Given the description of an element on the screen output the (x, y) to click on. 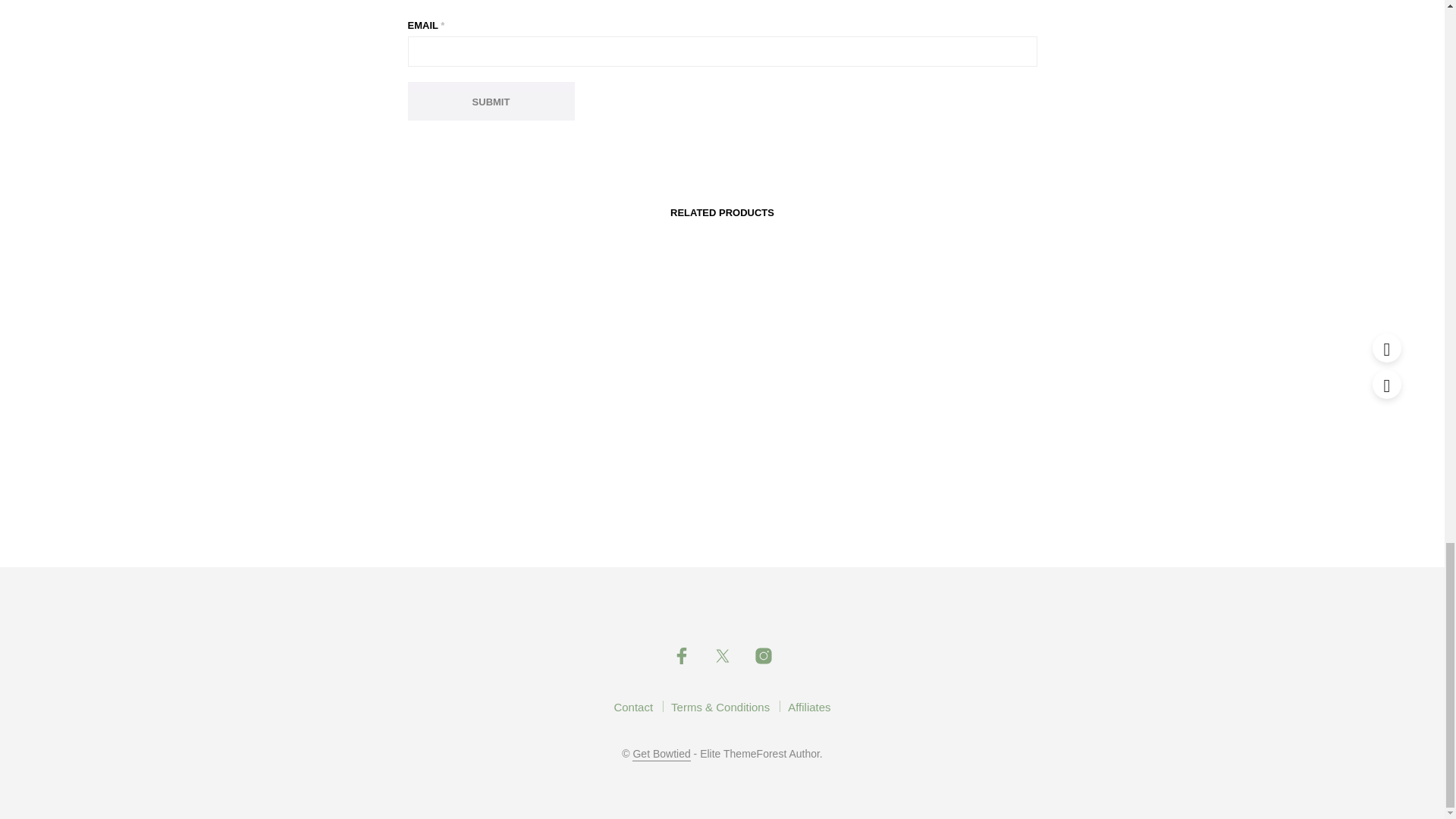
Submit (491, 100)
